Given the description of an element on the screen output the (x, y) to click on. 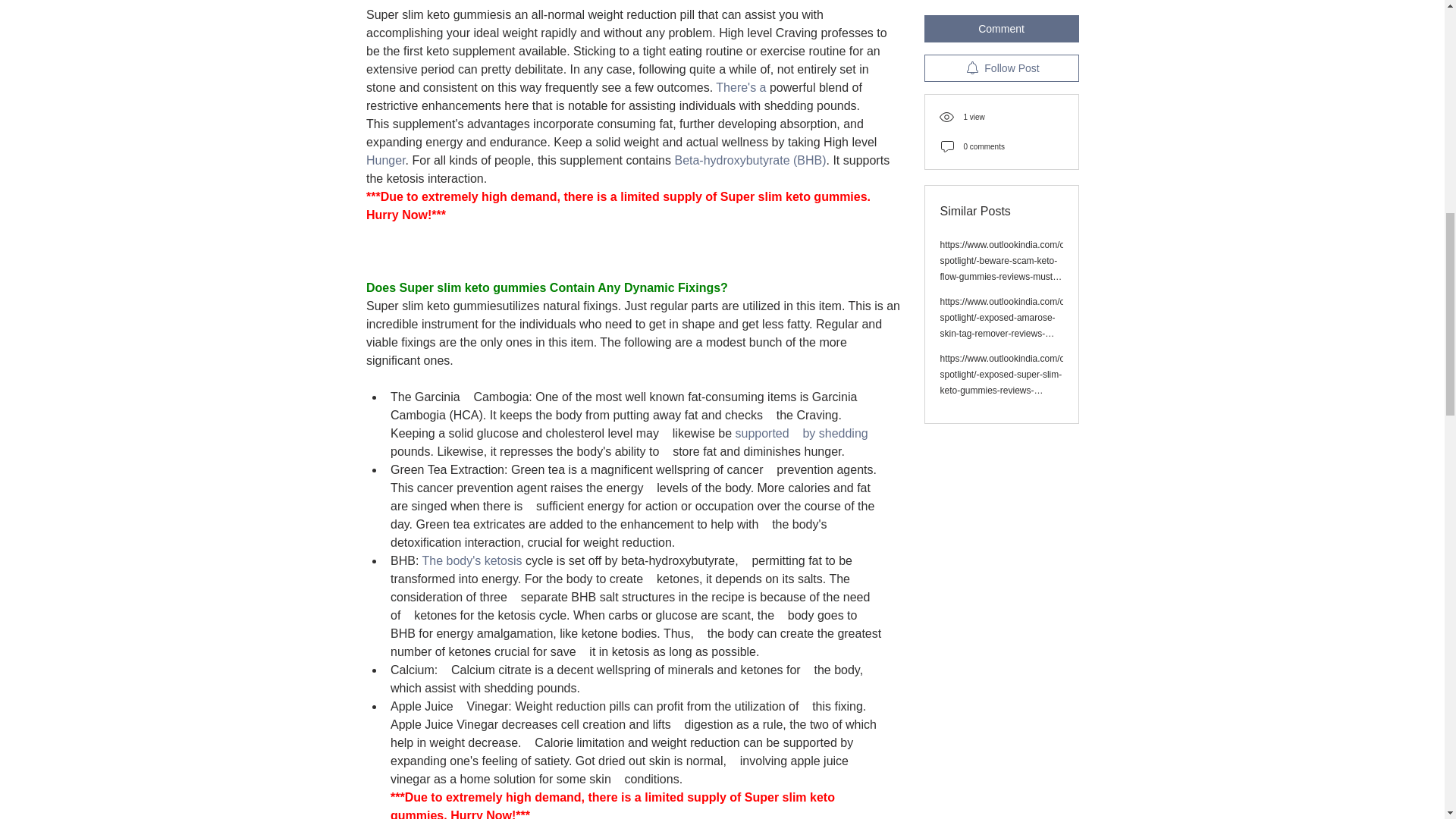
Hunger (384, 160)
supported    by shedding (801, 432)
There's a (740, 87)
